Given the description of an element on the screen output the (x, y) to click on. 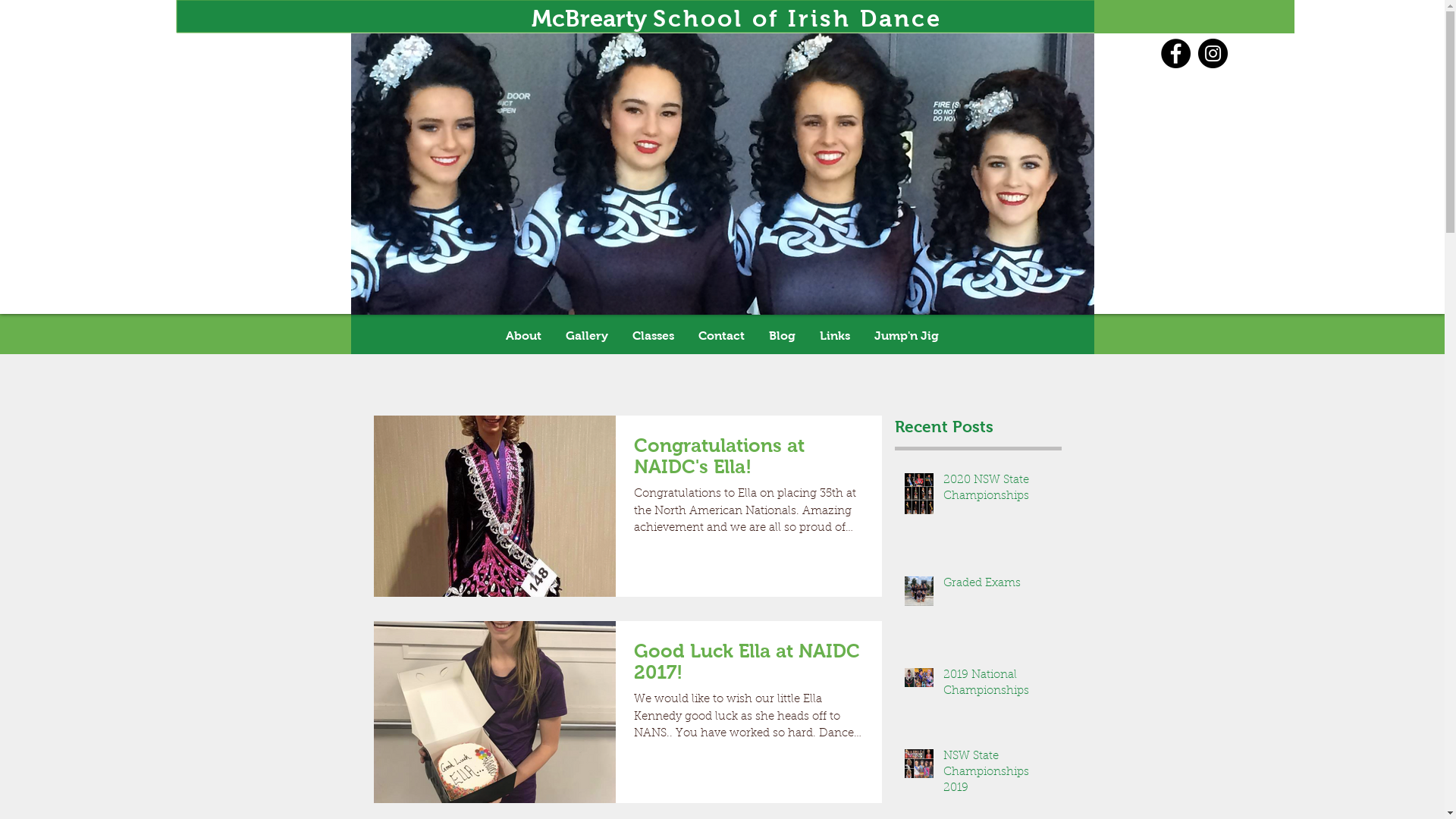
2020 NSW State Championships Element type: text (997, 491)
Gallery Element type: text (586, 335)
Contact Element type: text (720, 335)
Graded Exams Element type: text (997, 586)
Jump'n Jig Element type: text (905, 335)
NSW State Championships 2019 Element type: text (997, 775)
Links Element type: text (833, 335)
Good Luck Ella at NAIDC 2017! Element type: text (748, 665)
2019 National Championships Element type: text (997, 686)
Classes Element type: text (653, 335)
About Element type: text (522, 335)
McBrearty  Element type: text (591, 18)
Congratulations at NAIDC's Ella! Element type: text (748, 459)
Blog Element type: text (781, 335)
